Given the description of an element on the screen output the (x, y) to click on. 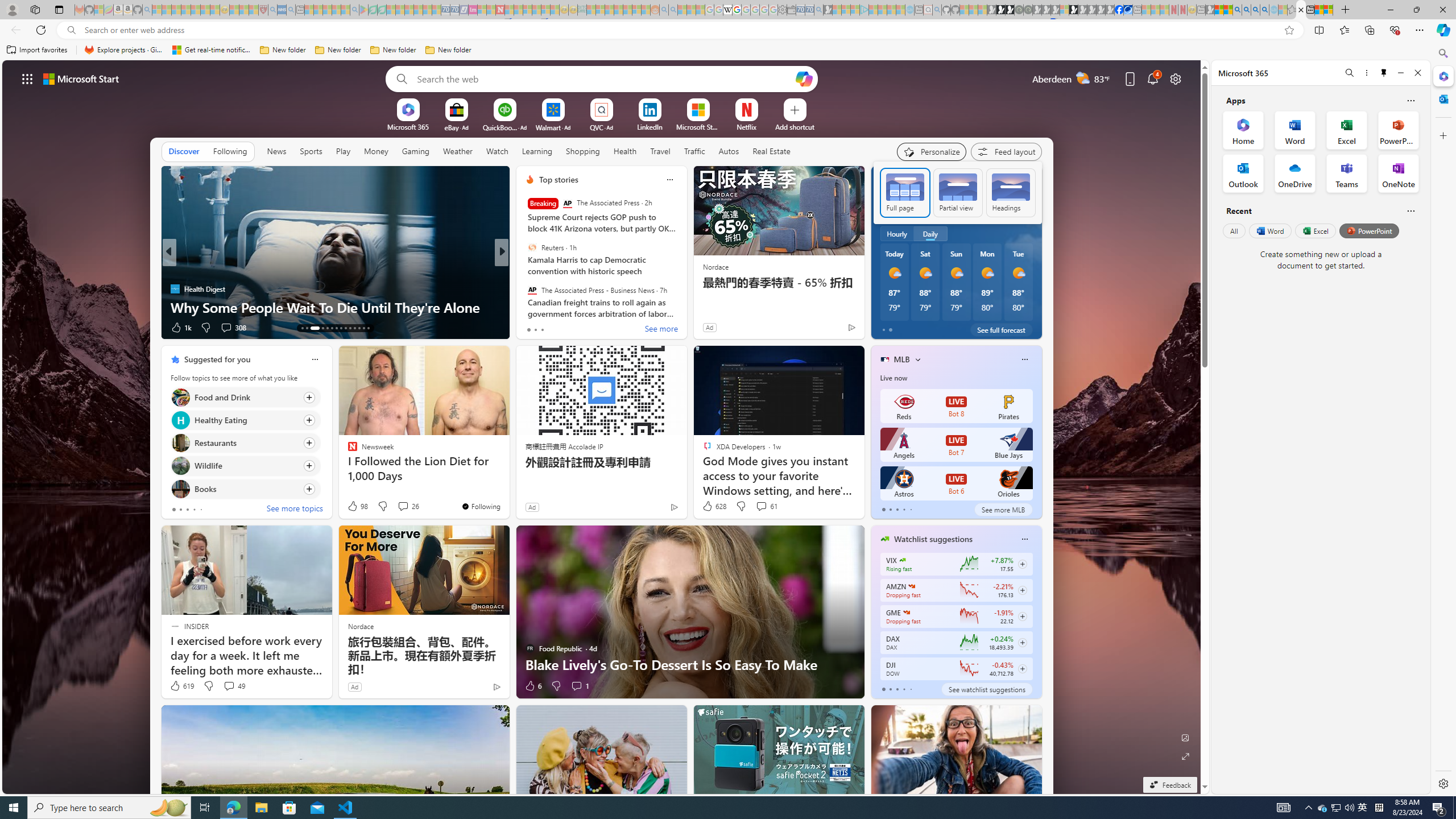
Weather (457, 151)
Weather (457, 151)
Jobs - lastminute.com Investor Portal - Sleeping (472, 9)
Page settings (1175, 78)
INSIDER (524, 270)
AutomationID: tab-26 (368, 328)
186 Like (532, 327)
